Given the description of an element on the screen output the (x, y) to click on. 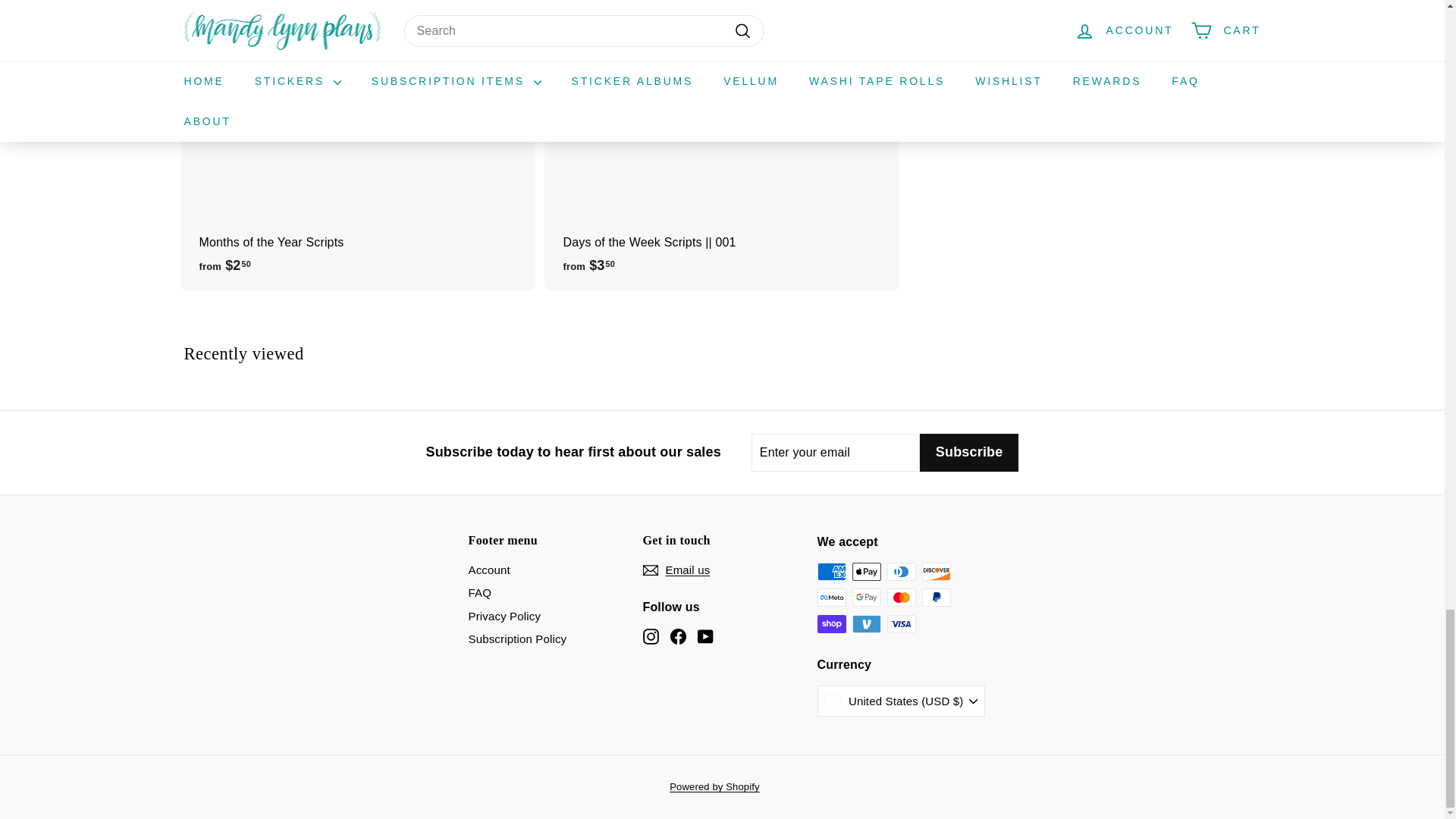
instagram (651, 636)
Mandy Lynn Plans on Instagram (651, 636)
American Express (830, 571)
Mandy Lynn Plans on Facebook (677, 636)
Apple Pay (865, 571)
Mandy Lynn Plans on YouTube (705, 636)
